Given the description of an element on the screen output the (x, y) to click on. 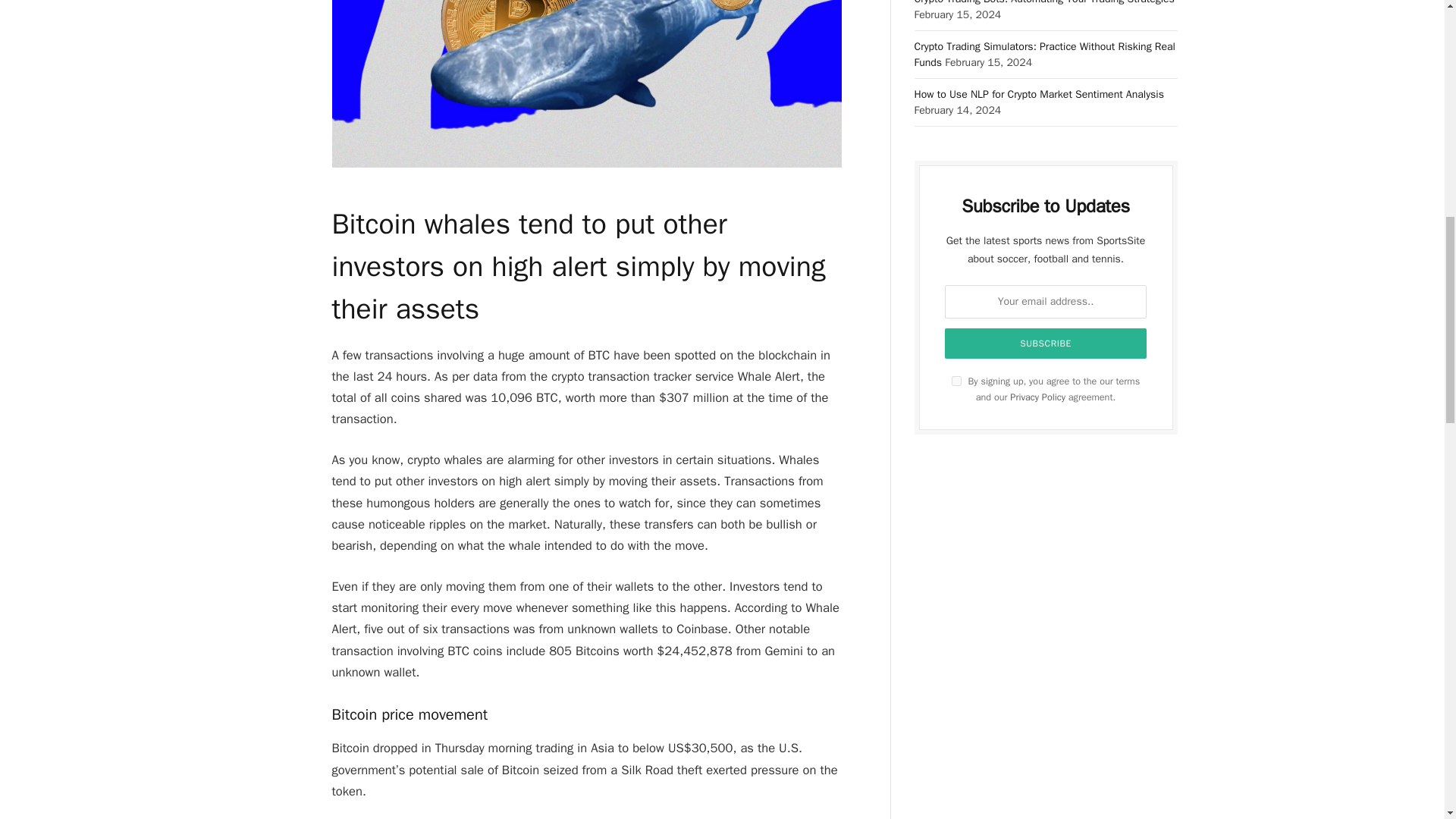
Subscribe (1045, 343)
on (956, 380)
